Given the description of an element on the screen output the (x, y) to click on. 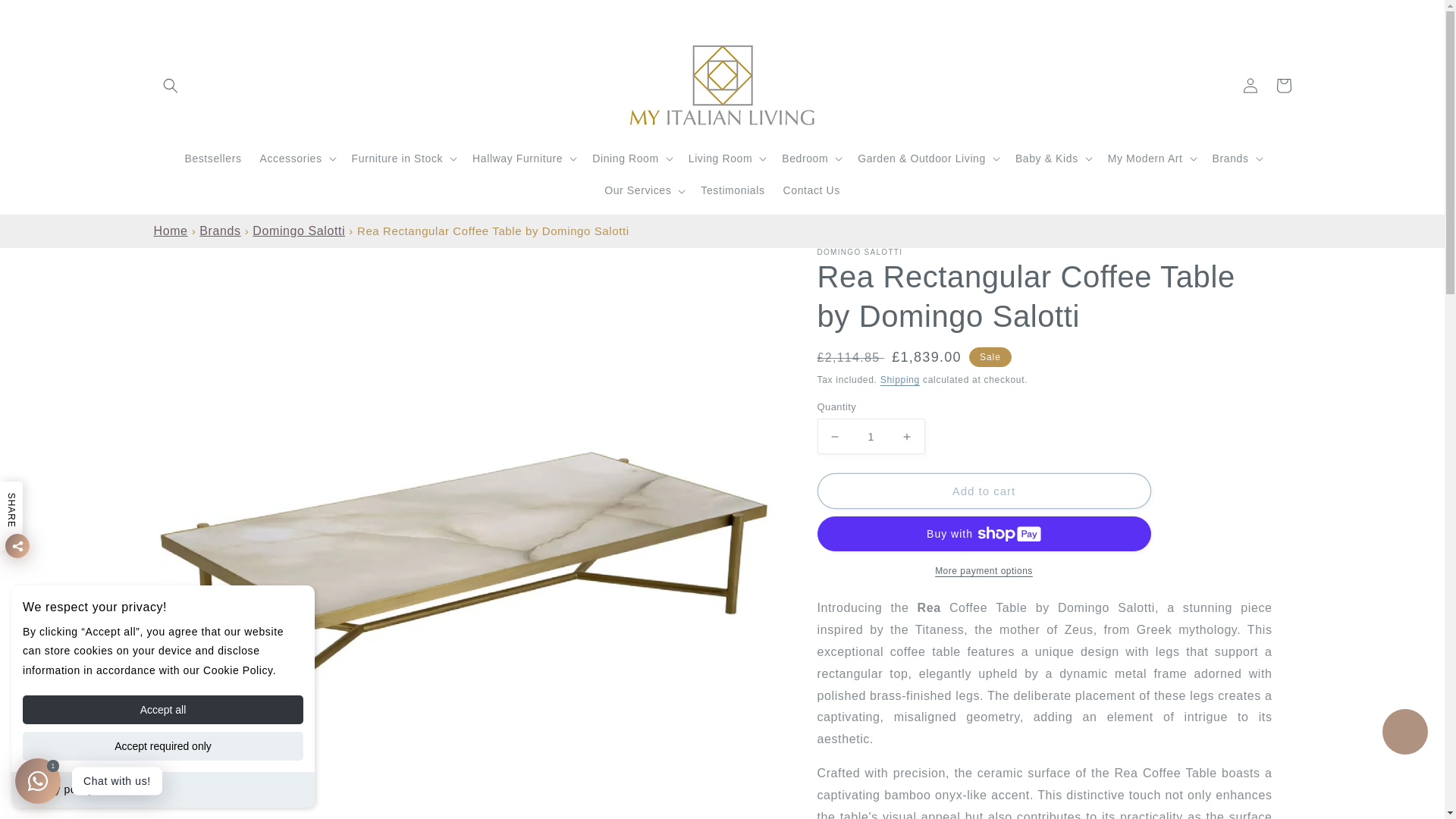
Shopify online store chat (1404, 733)
1 (870, 436)
Accept required only (162, 746)
Brands (219, 230)
Skip to content (45, 17)
Privacy policy (58, 788)
Domingo Salotti (298, 230)
Accept all (162, 709)
Home (169, 230)
